Given the description of an element on the screen output the (x, y) to click on. 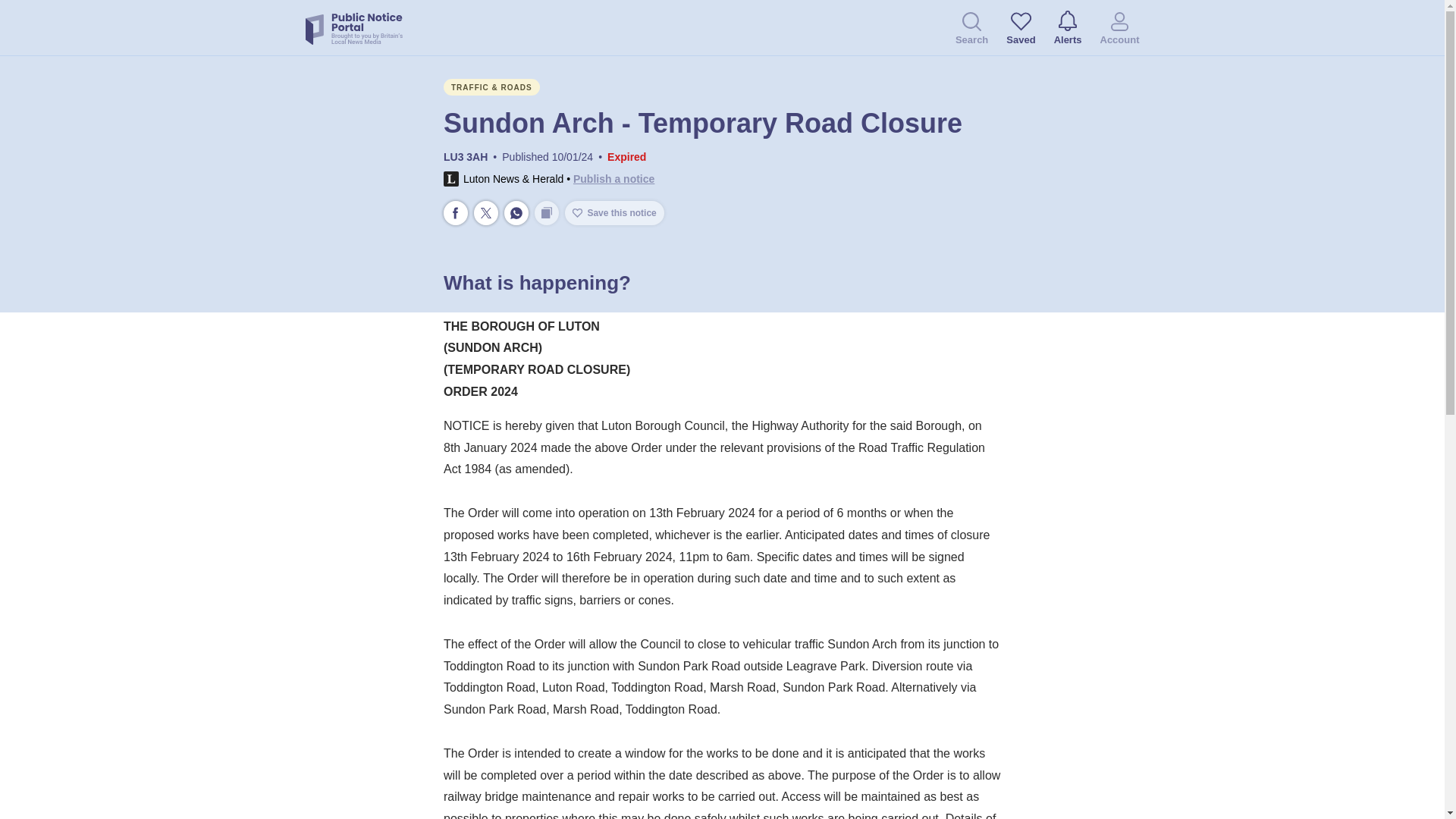
Alerts (1067, 28)
Search (971, 29)
Save this notice (613, 212)
Account (1118, 29)
Saved (1020, 29)
Publish a notice (613, 179)
